Given the description of an element on the screen output the (x, y) to click on. 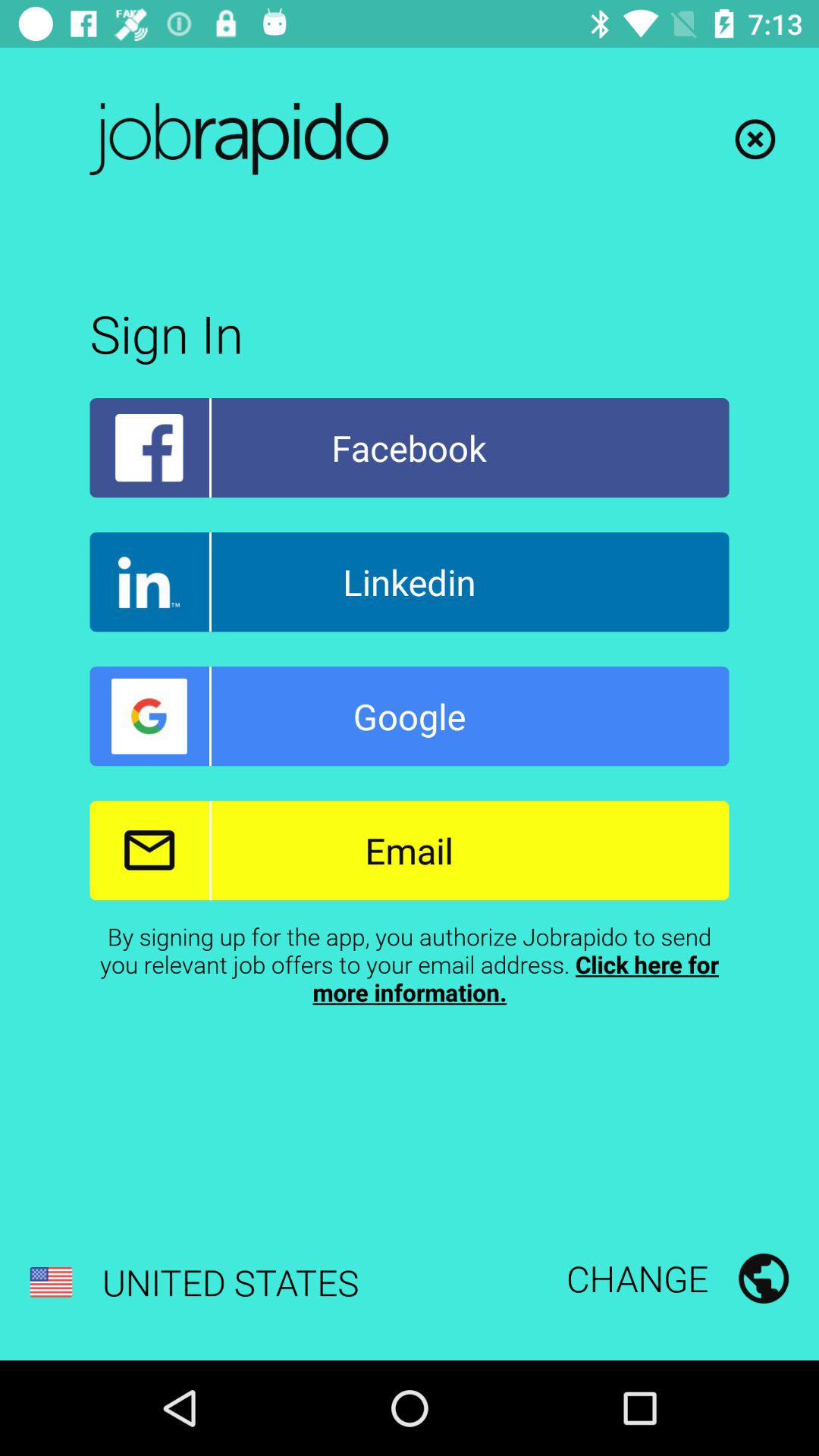
tap the change at the bottom right corner (677, 1278)
